Given the description of an element on the screen output the (x, y) to click on. 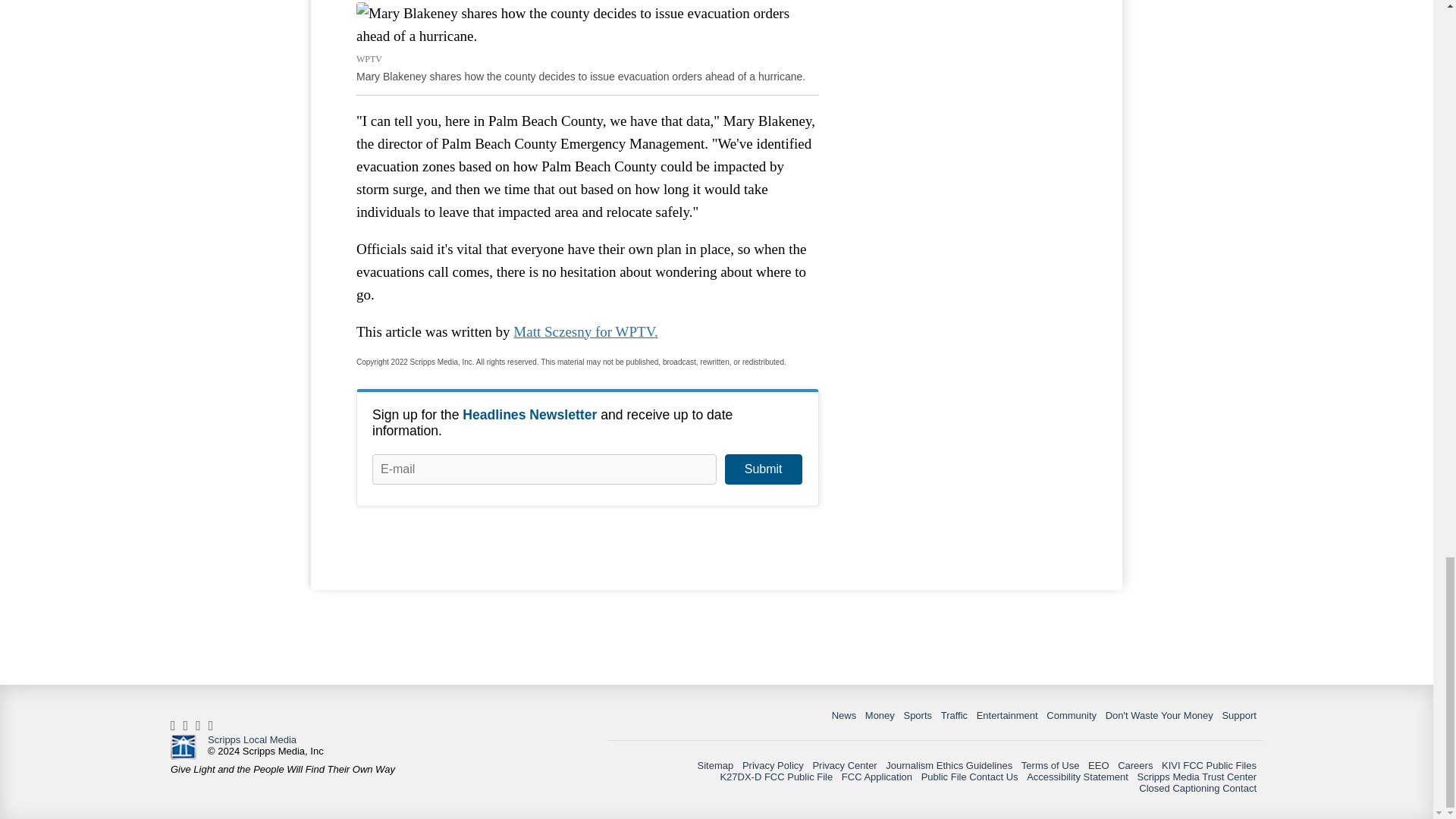
Submit (763, 469)
